Given the description of an element on the screen output the (x, y) to click on. 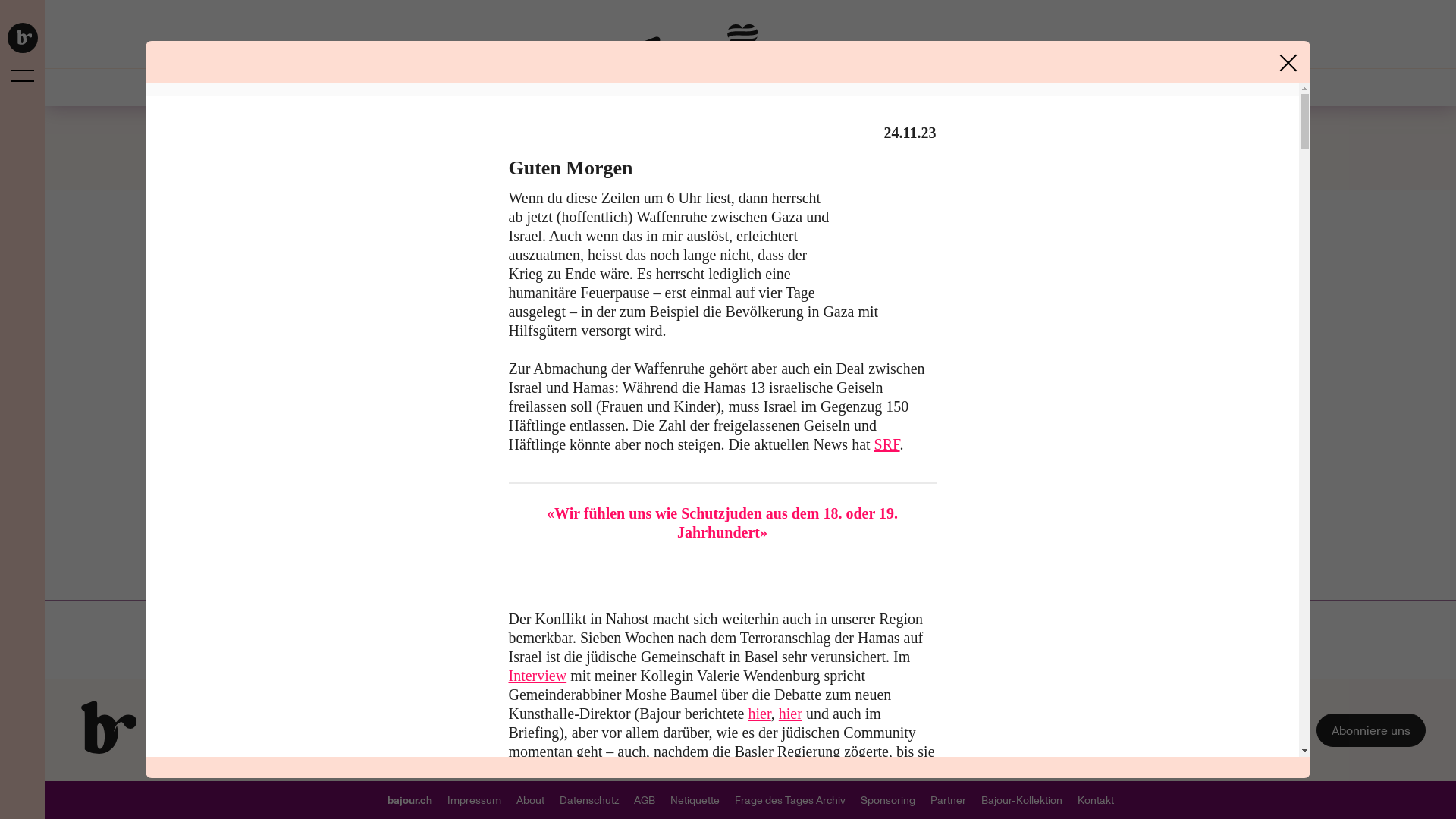
Kontakt Element type: text (1095, 799)
Partner Element type: text (948, 799)
Netiquette Element type: text (694, 799)
AGB Element type: text (644, 799)
About Element type: text (530, 799)
Ina Bullwinkel Element type: text (712, 537)
Homeschooling Element type: text (837, 575)
Maskenpflicht Element type: text (710, 575)
bajour.ch Element type: text (409, 799)
Sponsoring Element type: text (887, 799)
Frage des Tages Archiv Element type: text (789, 799)
KULTUR Element type: text (914, 87)
POLITIK Element type: text (984, 87)
Datenschutz Element type: text (588, 799)
Abonniere uns Element type: text (1370, 730)
Schule Element type: text (773, 575)
Bajour-Kollektion Element type: text (1021, 799)
Impressum Element type: text (474, 799)
BASEL BRIEFING Element type: text (565, 87)
Corona Element type: text (647, 575)
